Given the description of an element on the screen output the (x, y) to click on. 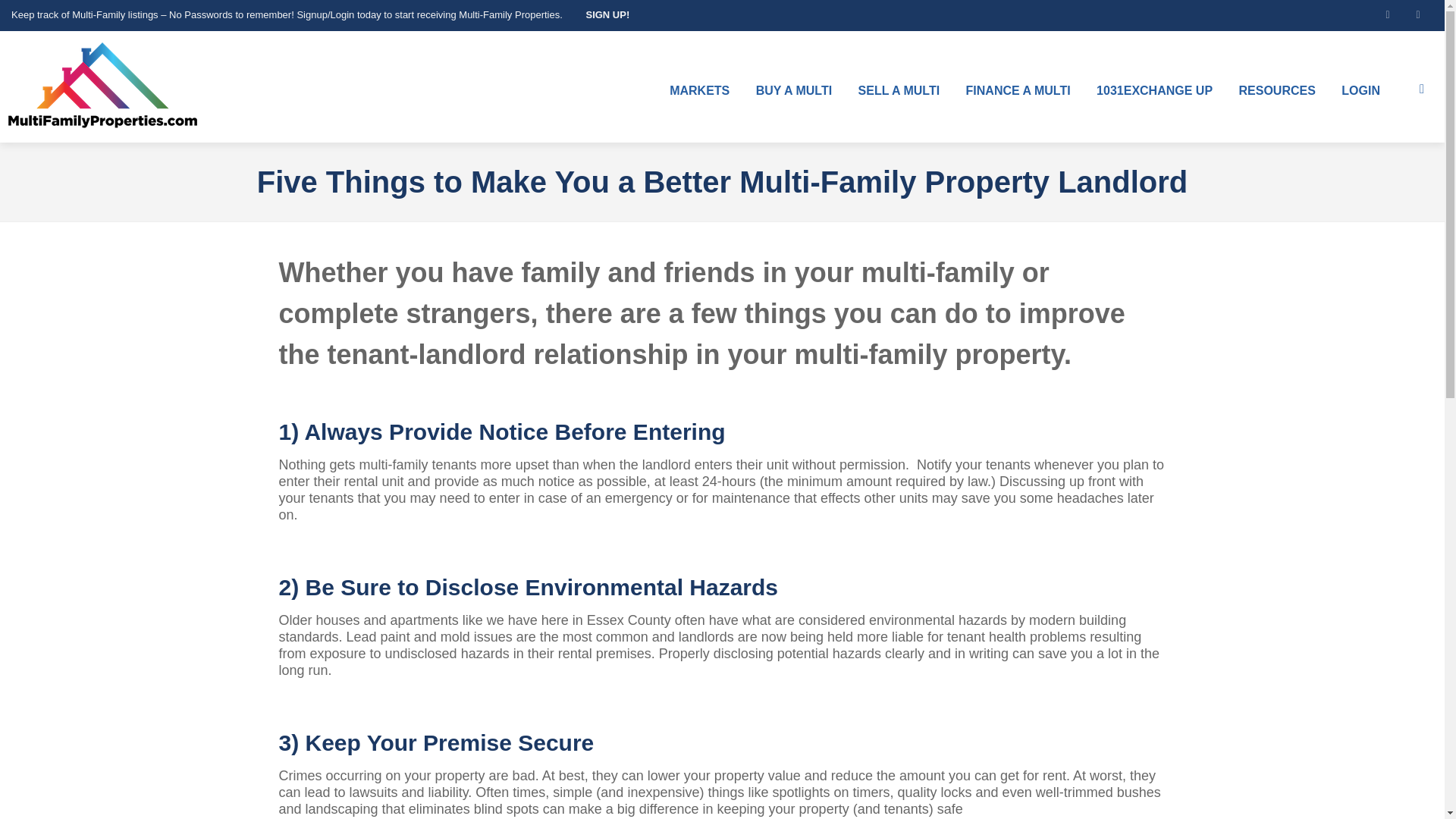
FINANCE A MULTI (1018, 91)
SELL A MULTI (898, 91)
1031EXCHANGE UP (1154, 91)
RESOURCES (1277, 91)
LOGIN (1360, 91)
MARKETS (699, 91)
BUY A MULTI (794, 91)
MultiFamilyProperties.com (101, 86)
SIGN UP! (600, 15)
